Given the description of an element on the screen output the (x, y) to click on. 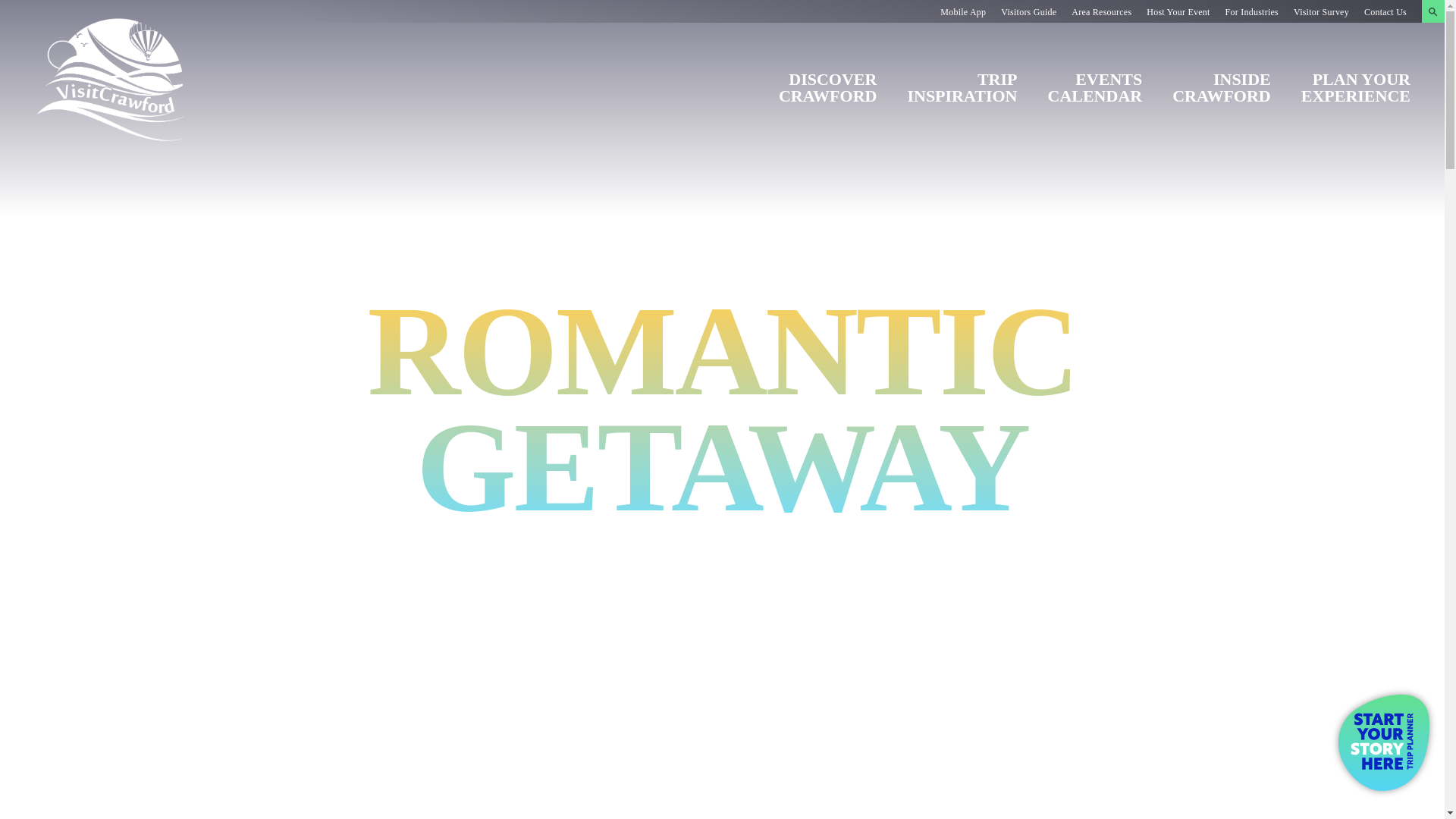
Contact Us (1385, 11)
For Industries (1251, 11)
Area Resources (1101, 11)
Visitor Survey (1321, 11)
Host Your Event (1178, 11)
Mobile App (962, 11)
TRIP INSPIRATION (961, 81)
EVENTS CALENDAR (1095, 81)
Visitors Guide (1029, 11)
DISCOVER CRAWFORD (827, 81)
